Given the description of an element on the screen output the (x, y) to click on. 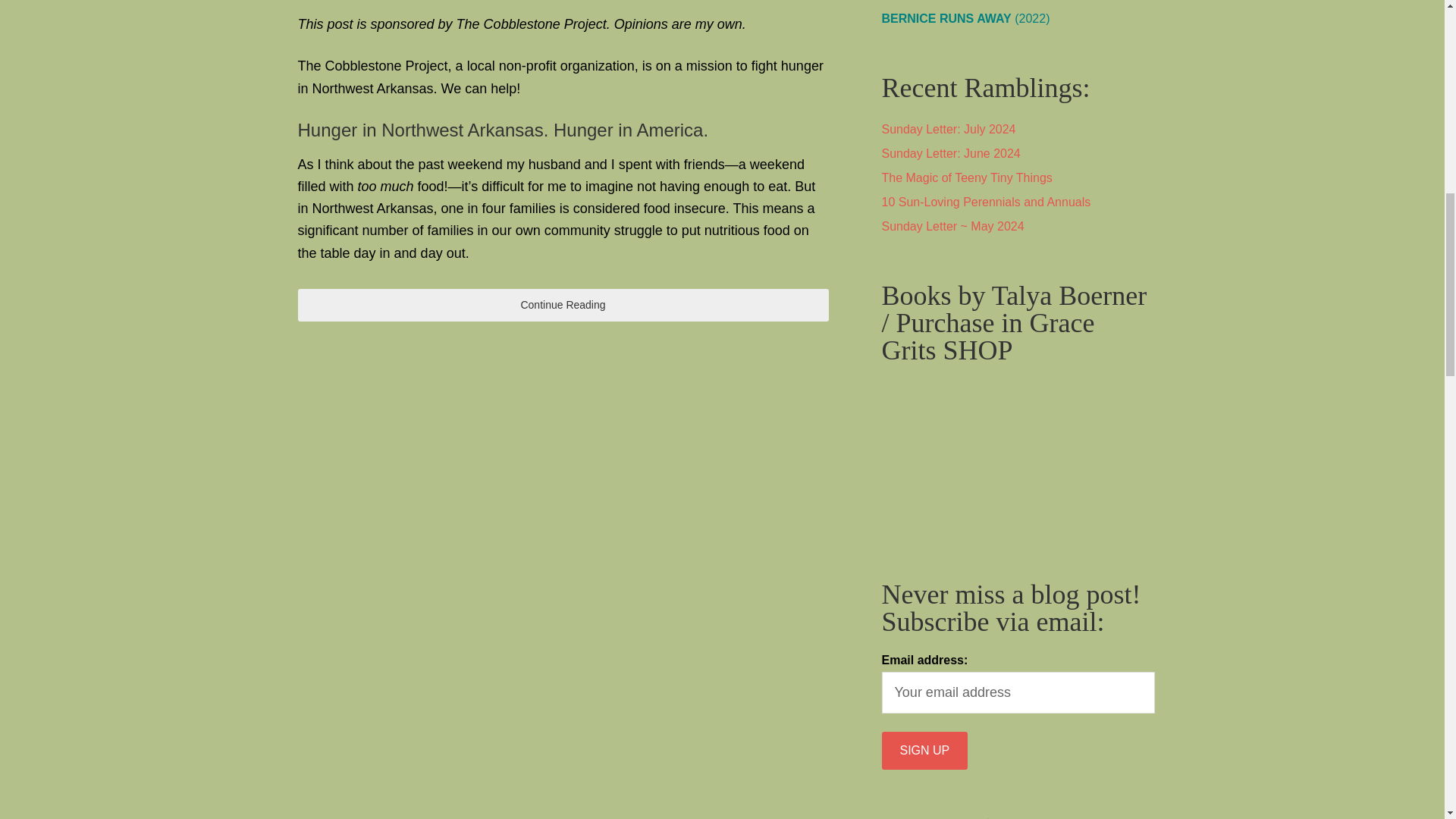
Sunday Letter: July 2024 (947, 128)
Sign up (924, 750)
Sign up (924, 750)
Continue Reading (562, 305)
Sunday Letter: June 2024 (950, 153)
The Magic of Teeny Tiny Things (965, 177)
10 Sun-Loving Perennials and Annuals (985, 201)
